Given the description of an element on the screen output the (x, y) to click on. 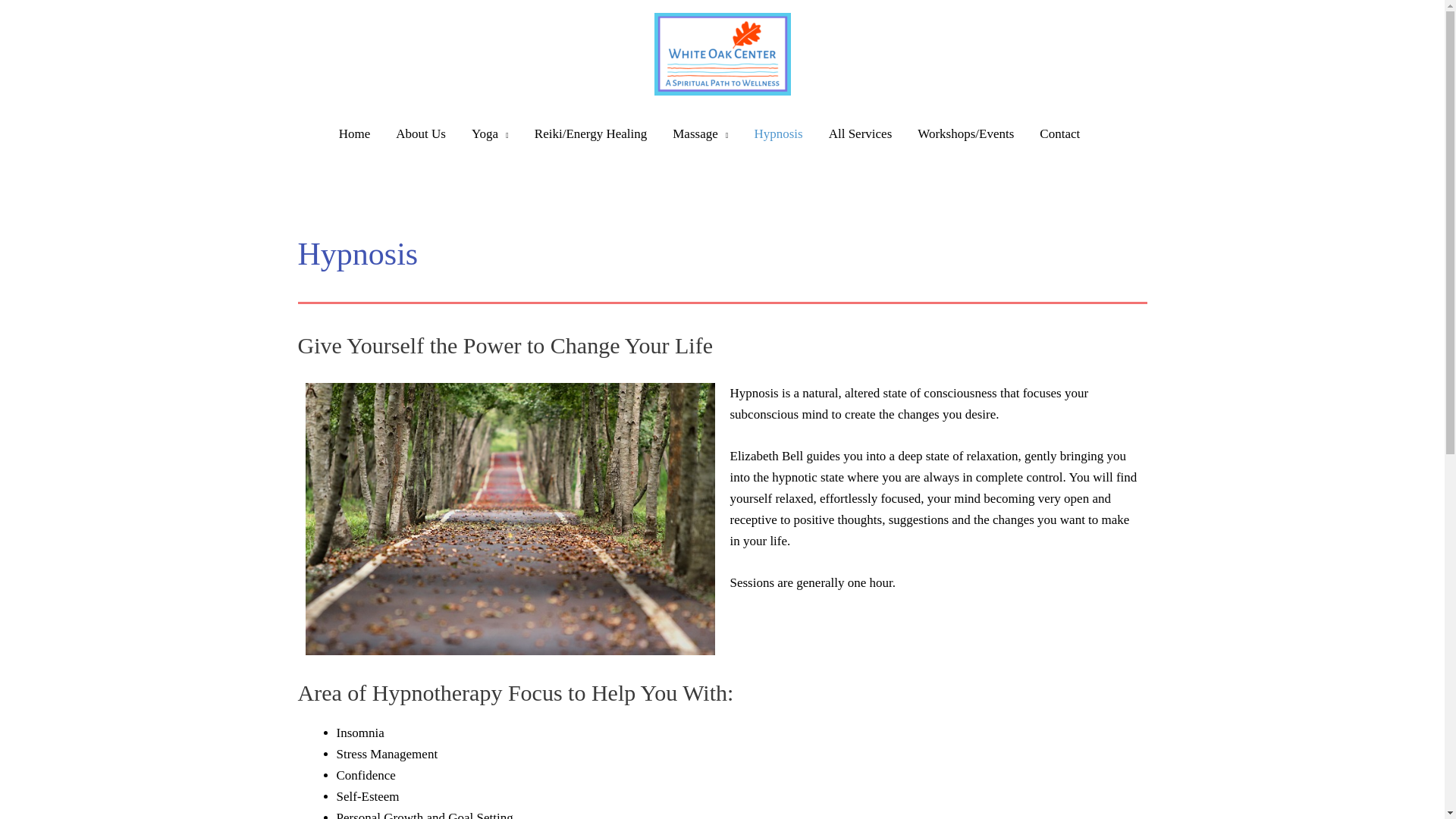
Yoga (489, 133)
Home (355, 133)
Page 1 (933, 488)
All Services (860, 133)
Massage (700, 133)
Hypnosis (778, 133)
